Given the description of an element on the screen output the (x, y) to click on. 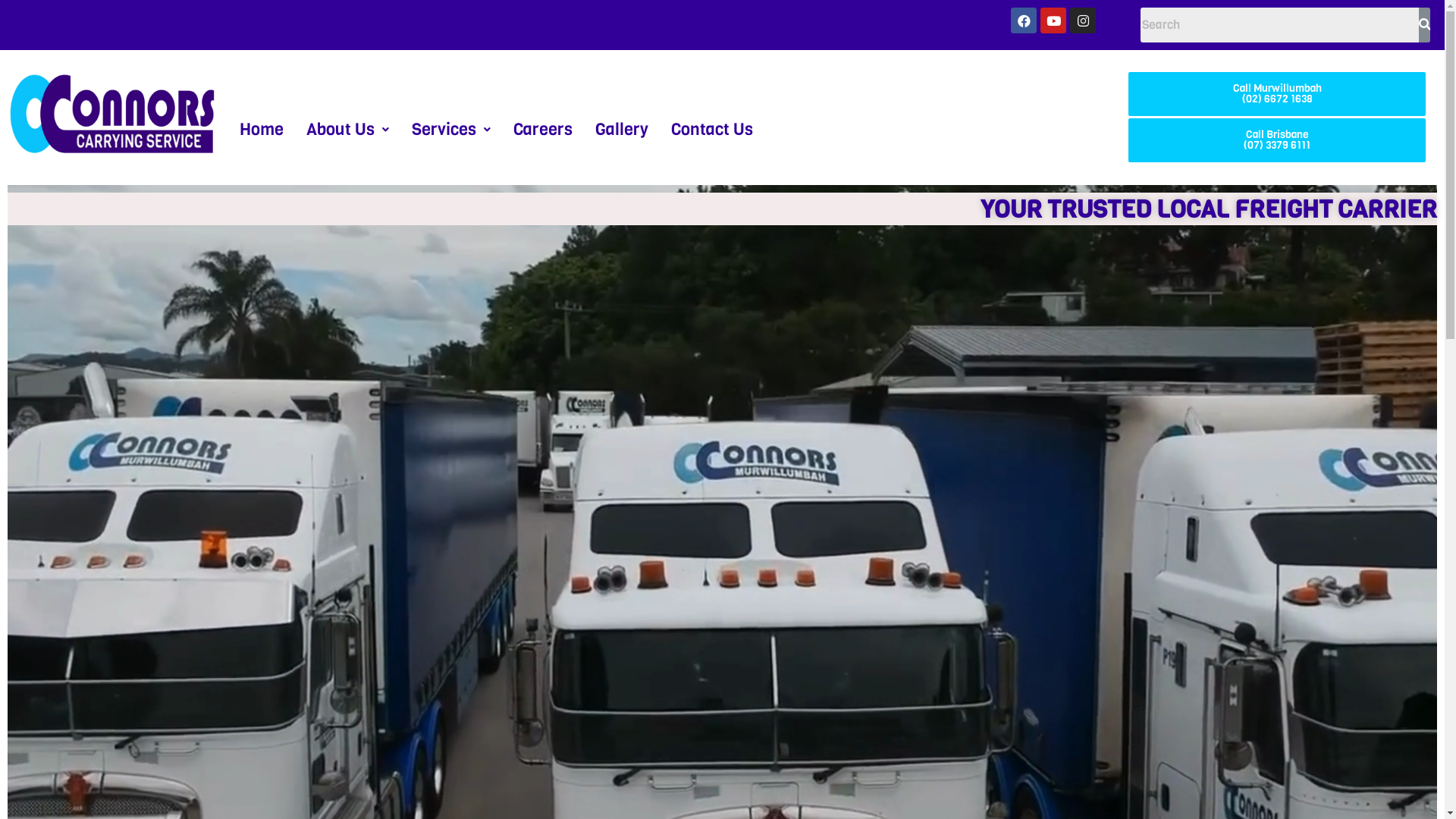
Call Murwillumbah
(02) 6672 1638 Element type: text (1276, 94)
Services Element type: text (451, 129)
Contact Us Element type: text (711, 129)
Call Brisbane
(07) 3379 6111 Element type: text (1276, 140)
Home Element type: text (261, 129)
Search Element type: hover (1279, 24)
Careers Element type: text (542, 129)
Gallery Element type: text (621, 129)
About Us Element type: text (347, 129)
